Given the description of an element on the screen output the (x, y) to click on. 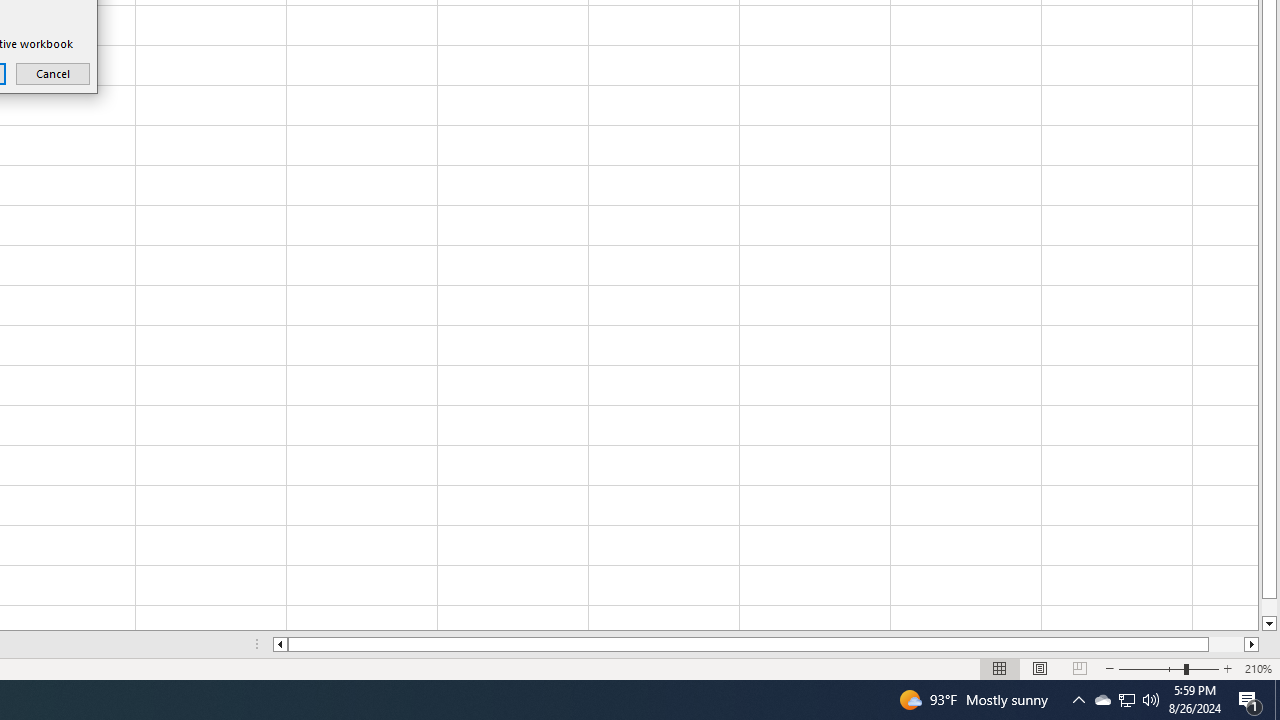
Q2790: 100% (1151, 699)
Show desktop (1277, 699)
User Promoted Notification Area (1126, 699)
